Given the description of an element on the screen output the (x, y) to click on. 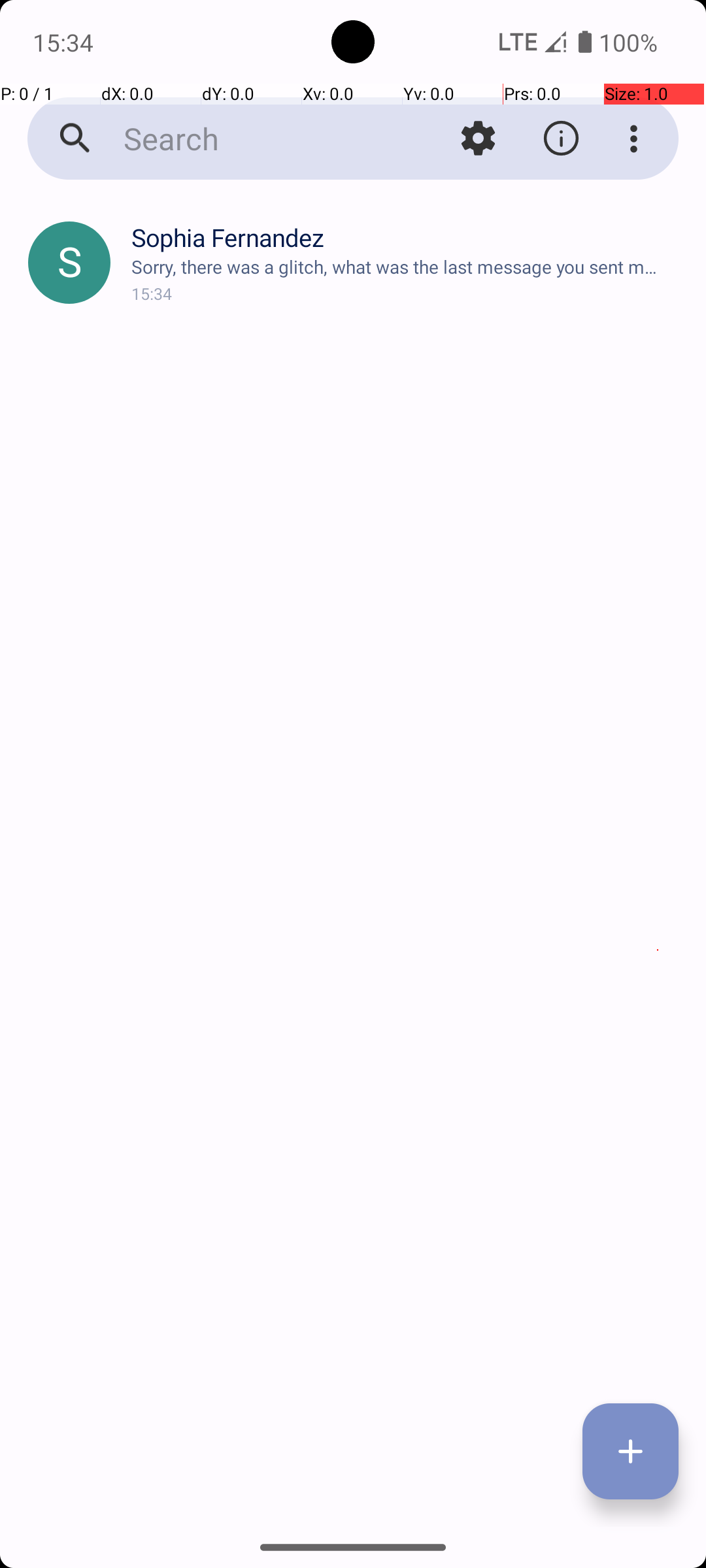
Sophia Fernandez Element type: android.widget.TextView (408, 237)
